Given the description of an element on the screen output the (x, y) to click on. 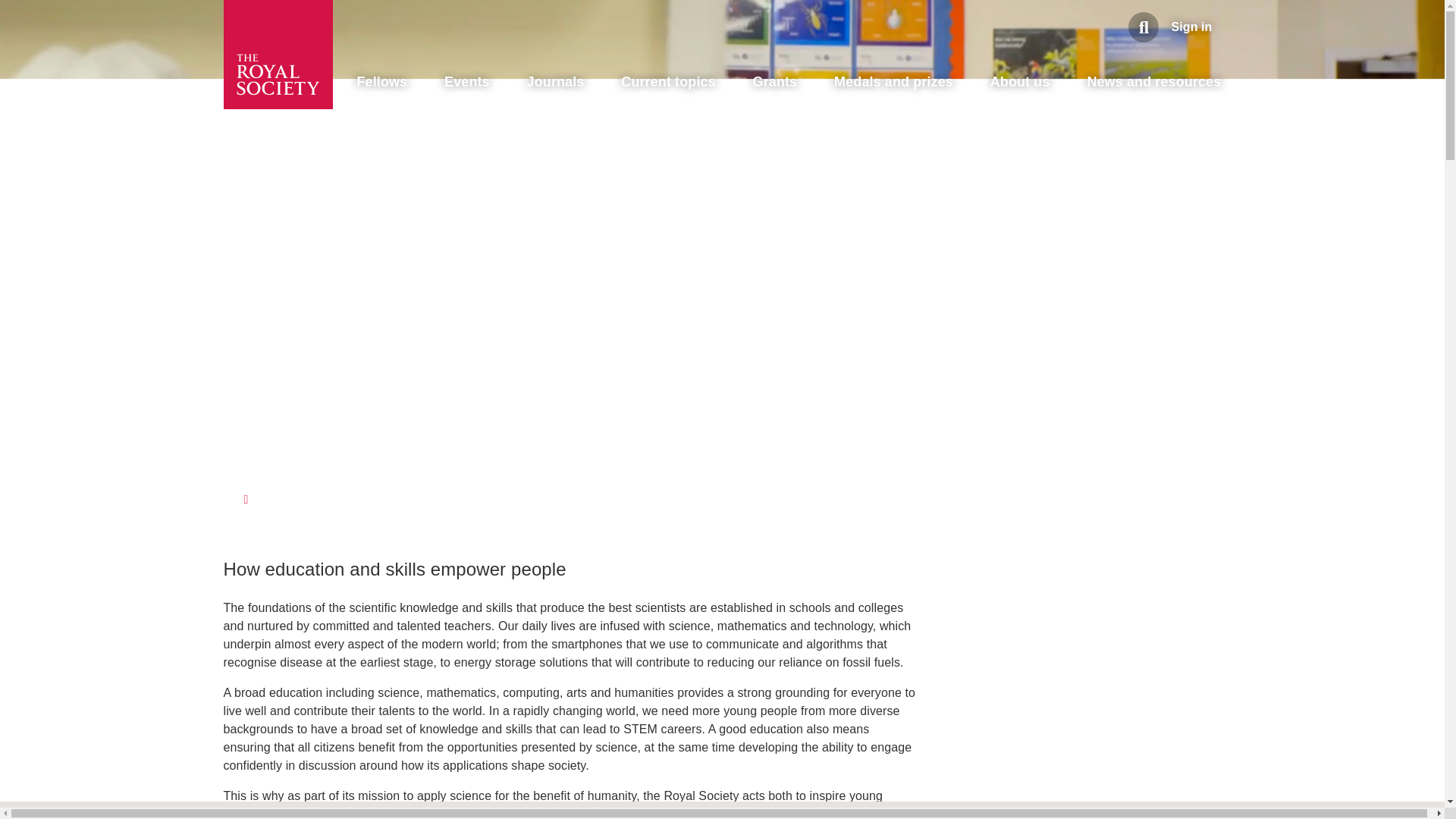
Fellows (381, 81)
Current topics (667, 81)
Journals (556, 81)
